Given the description of an element on the screen output the (x, y) to click on. 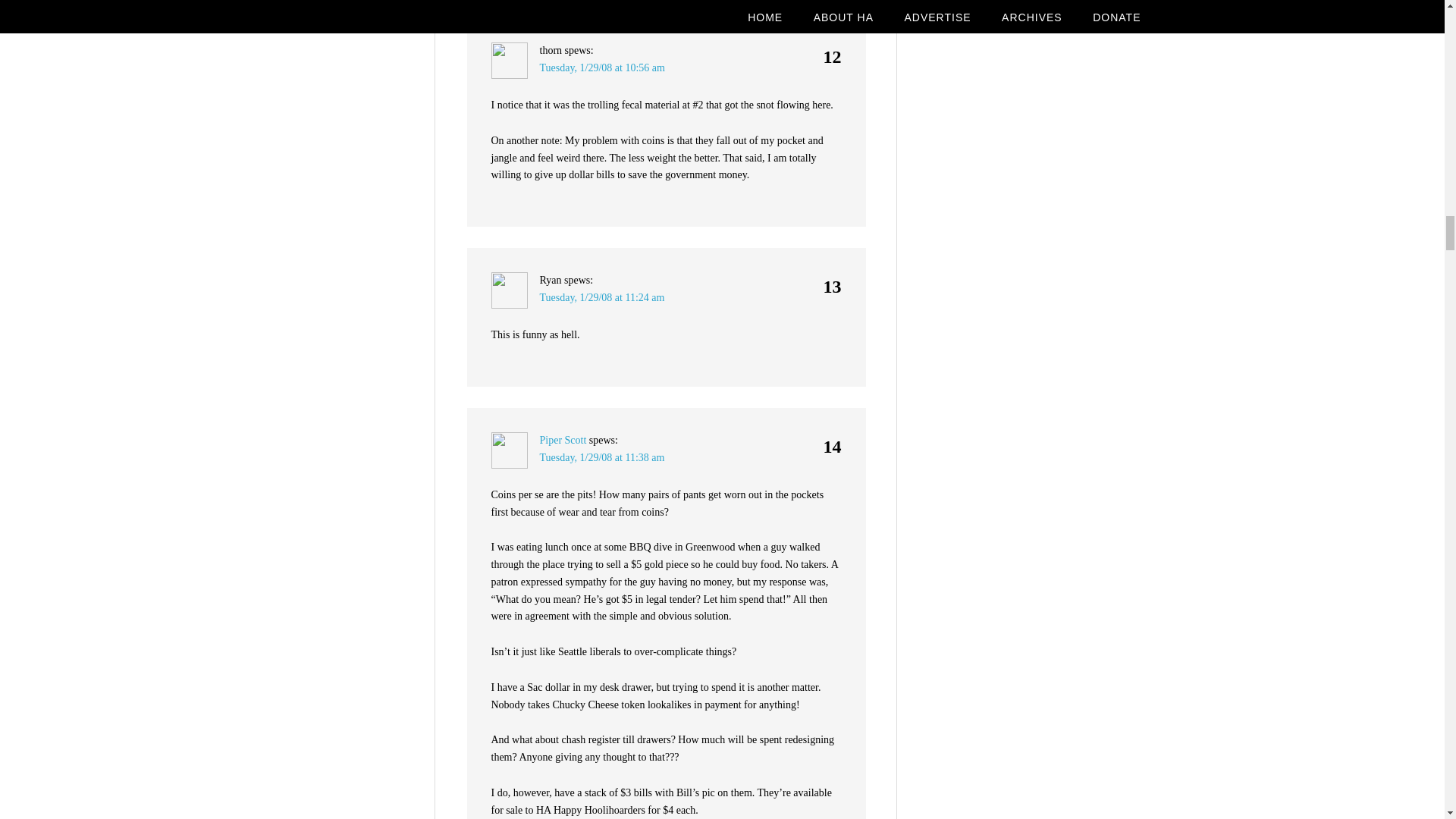
Piper Scott (563, 439)
